Given the description of an element on the screen output the (x, y) to click on. 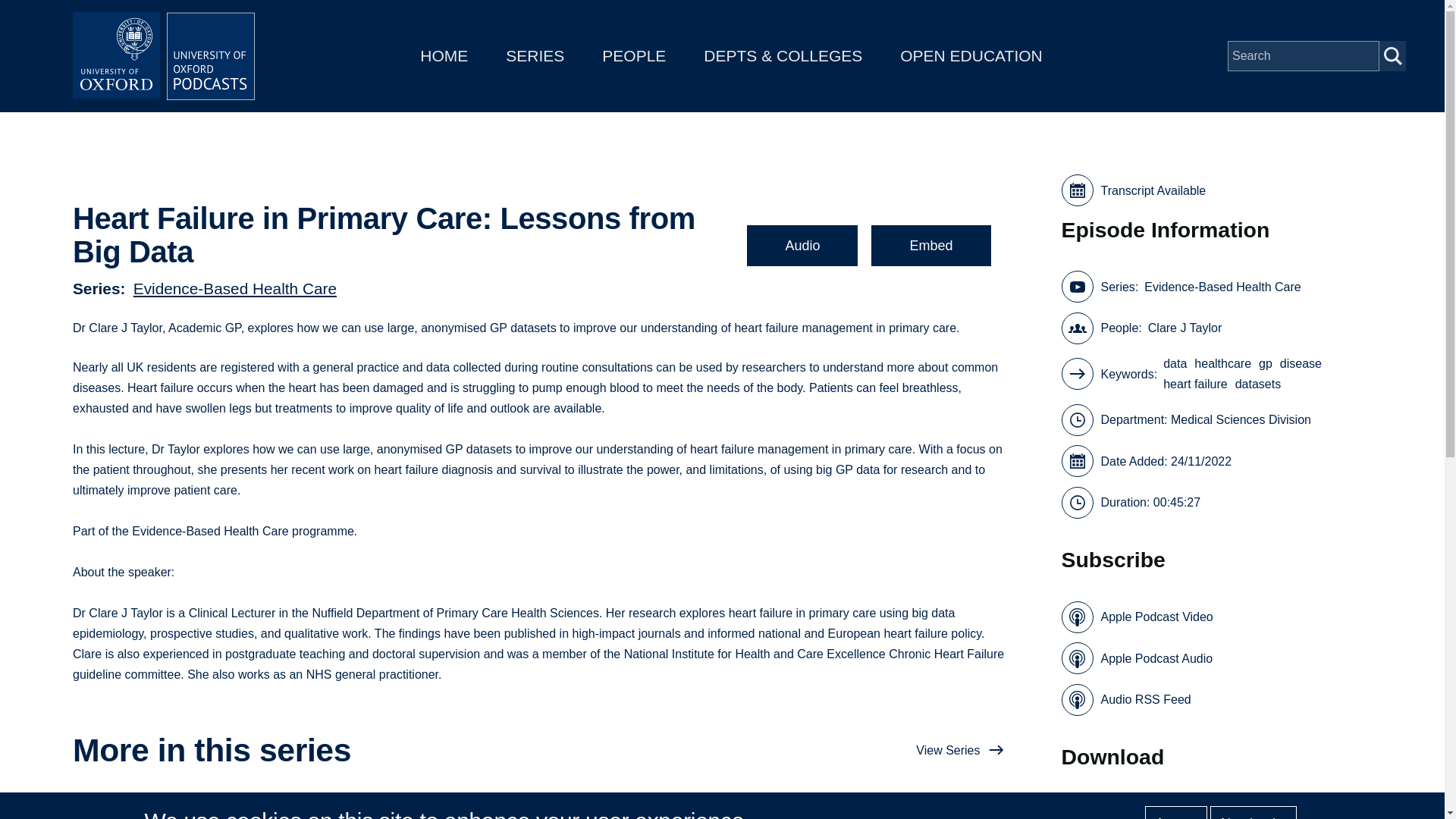
SERIES (534, 55)
datasets (1257, 383)
Apple Podcast Video (1136, 617)
Medical Sciences Division (1240, 419)
heart failure (1195, 383)
PEOPLE (633, 55)
Evidence-Based Health Care (1222, 286)
Apple Podcast Audio (1136, 658)
Download Audio (1217, 808)
healthcare (1221, 362)
